Given the description of an element on the screen output the (x, y) to click on. 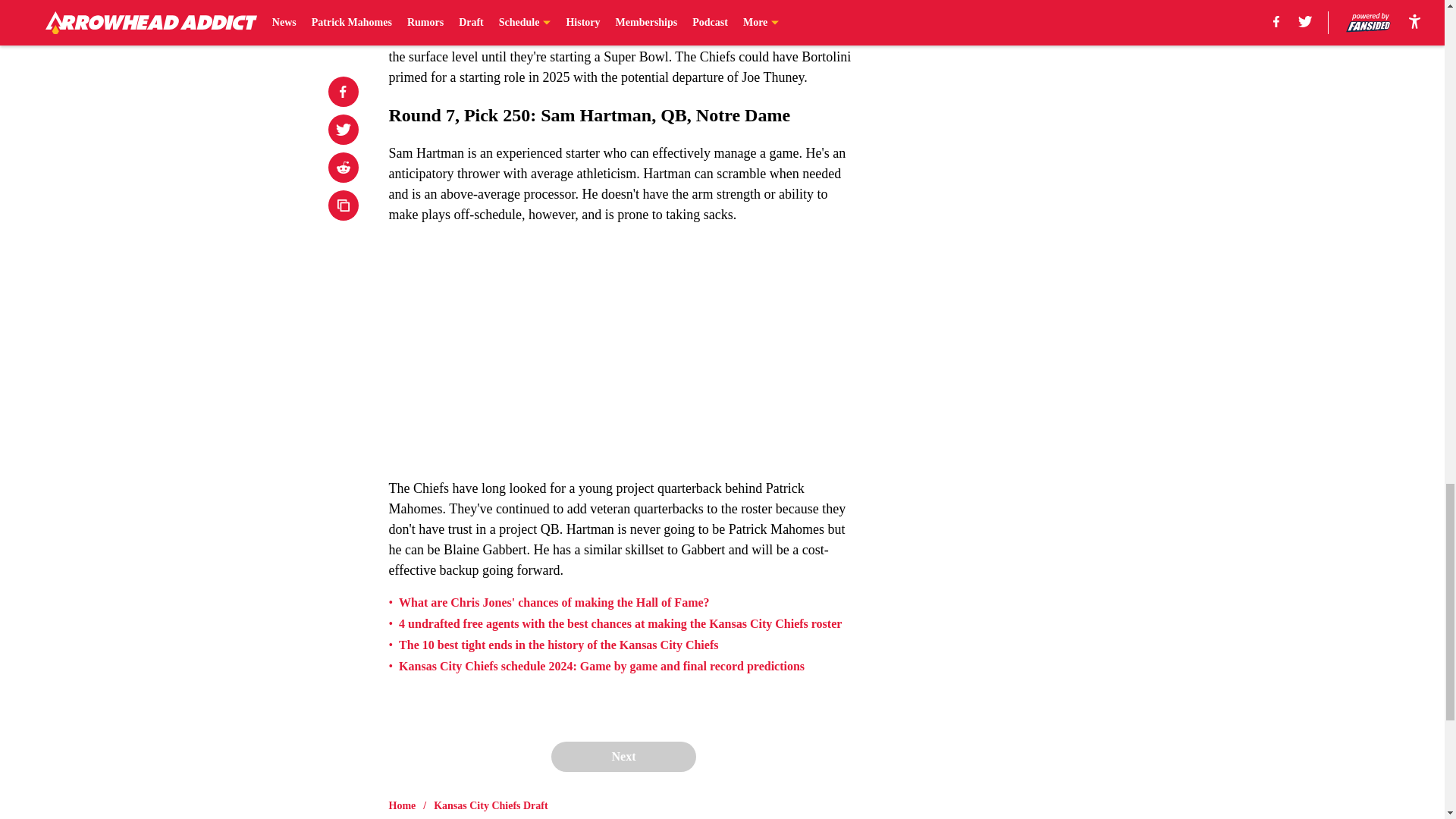
What are Chris Jones' chances of making the Hall of Fame? (553, 602)
Next (622, 757)
looking for a starting role in 2024 (694, 15)
